Given the description of an element on the screen output the (x, y) to click on. 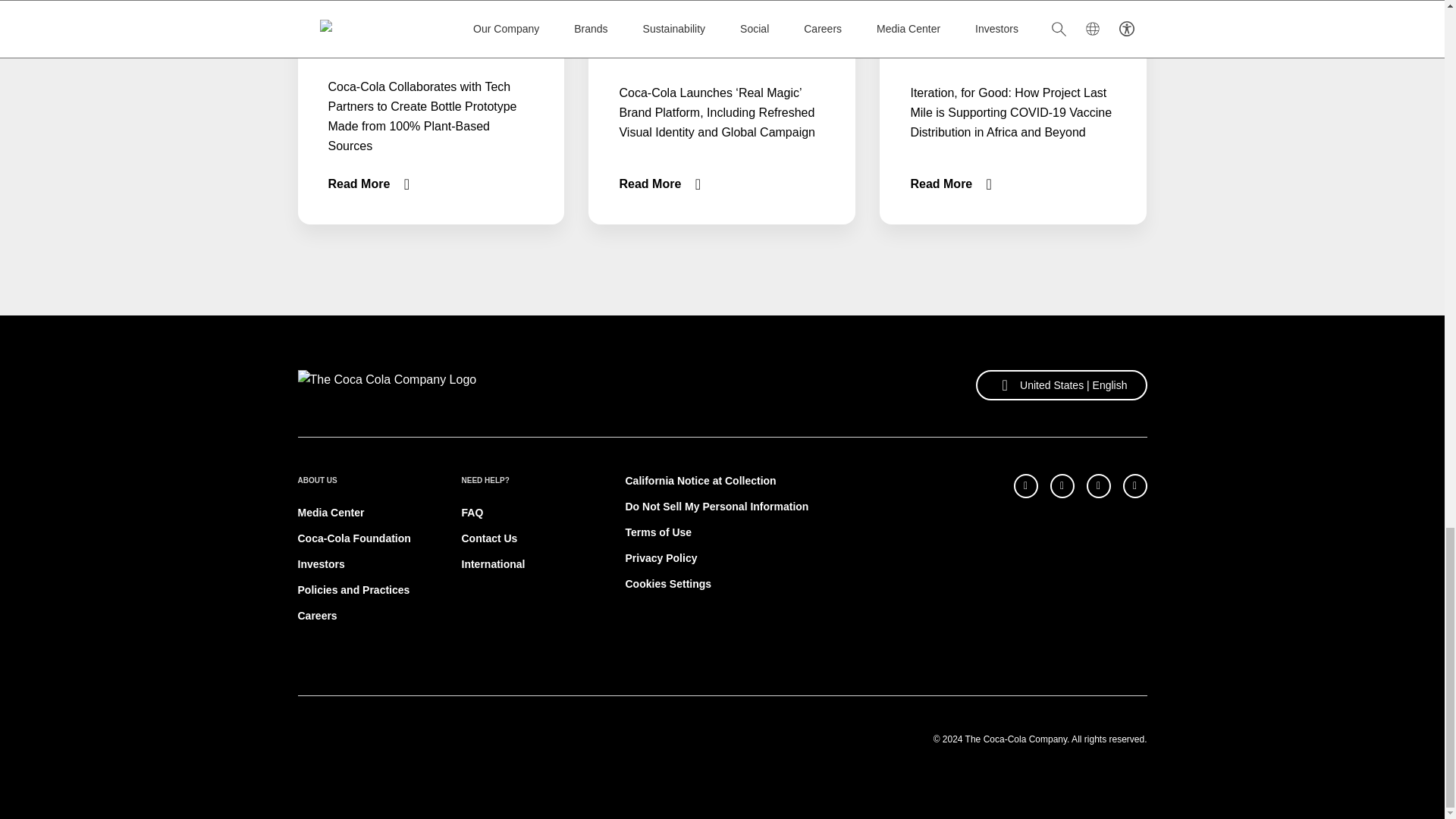
the-coca-cola-company-logo-white.svg (386, 385)
